Given the description of an element on the screen output the (x, y) to click on. 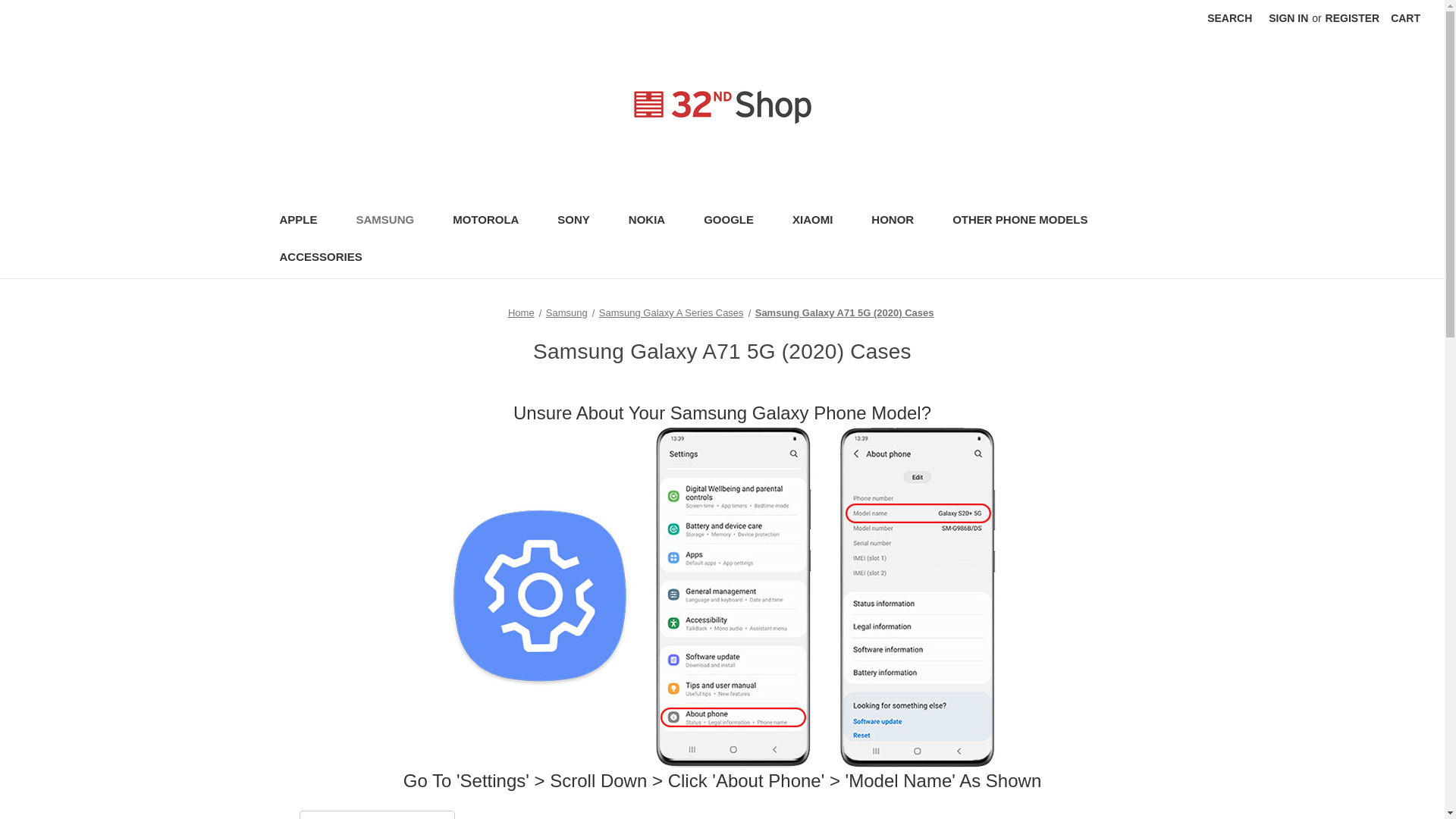
REGISTER (1353, 18)
32ndShop (721, 107)
SEARCH (1229, 18)
CART (1404, 18)
SIGN IN (1288, 18)
APPLE (304, 221)
